Given the description of an element on the screen output the (x, y) to click on. 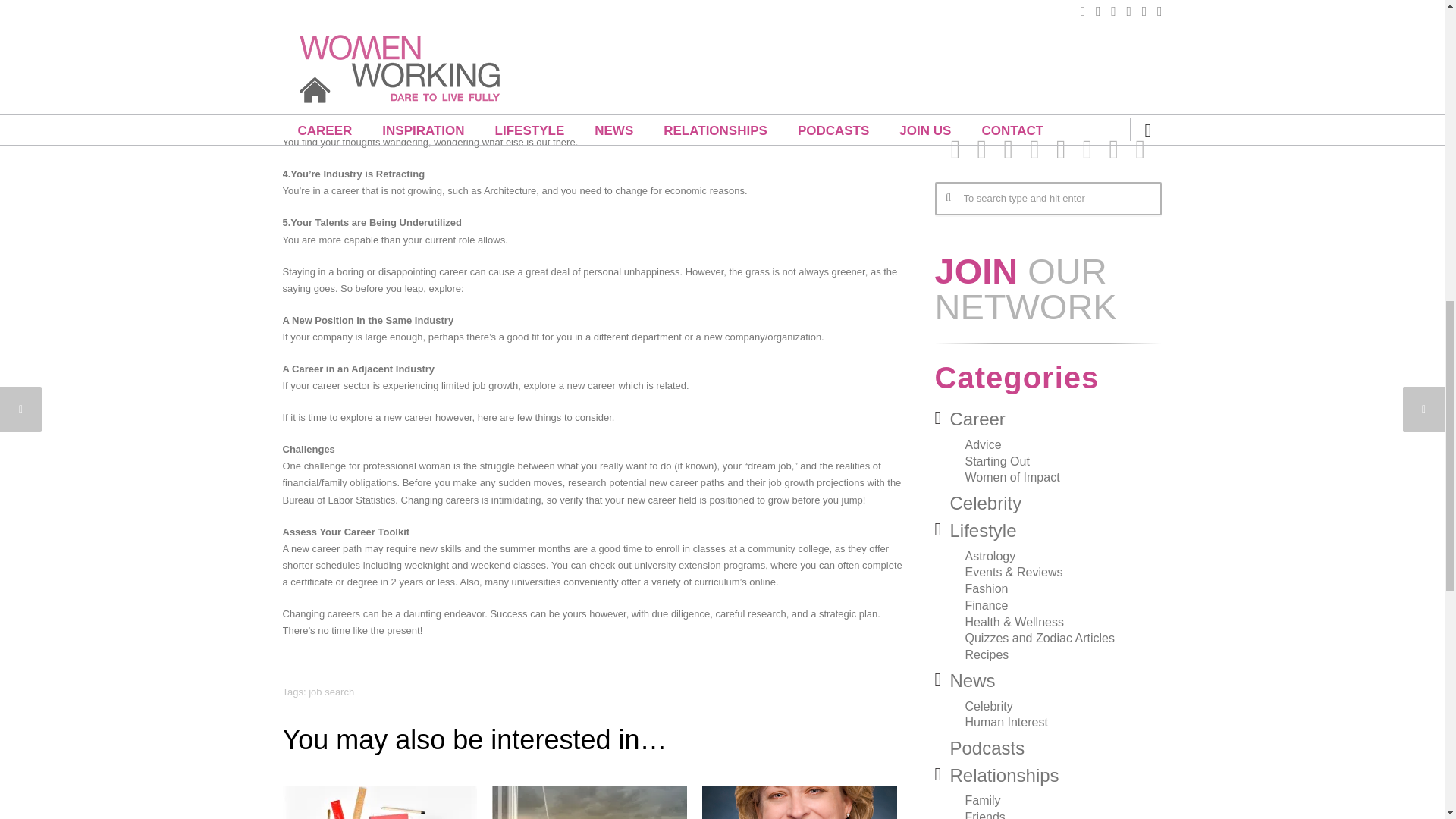
Signs it's Time for a Career Change (379, 802)
We Need Role Models for Girls In STEM Careers (798, 802)
To search type and hit enter (1047, 198)
Advertisement (1047, 60)
